Given the description of an element on the screen output the (x, y) to click on. 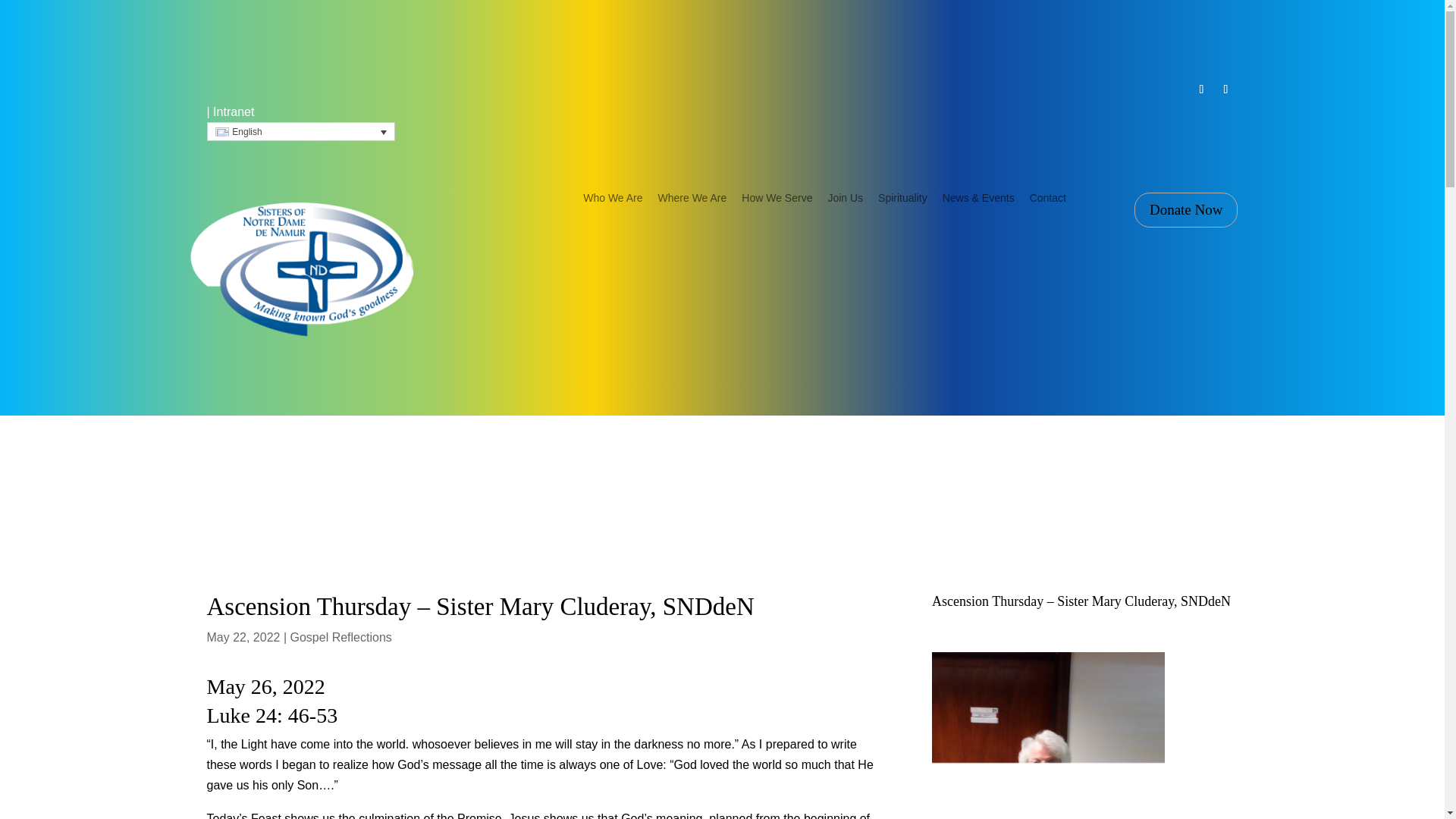
Mary Cluderay (1047, 735)
Follow on Facebook (1200, 88)
Follow on X (1224, 88)
English (300, 131)
Intranet (232, 111)
